Given the description of an element on the screen output the (x, y) to click on. 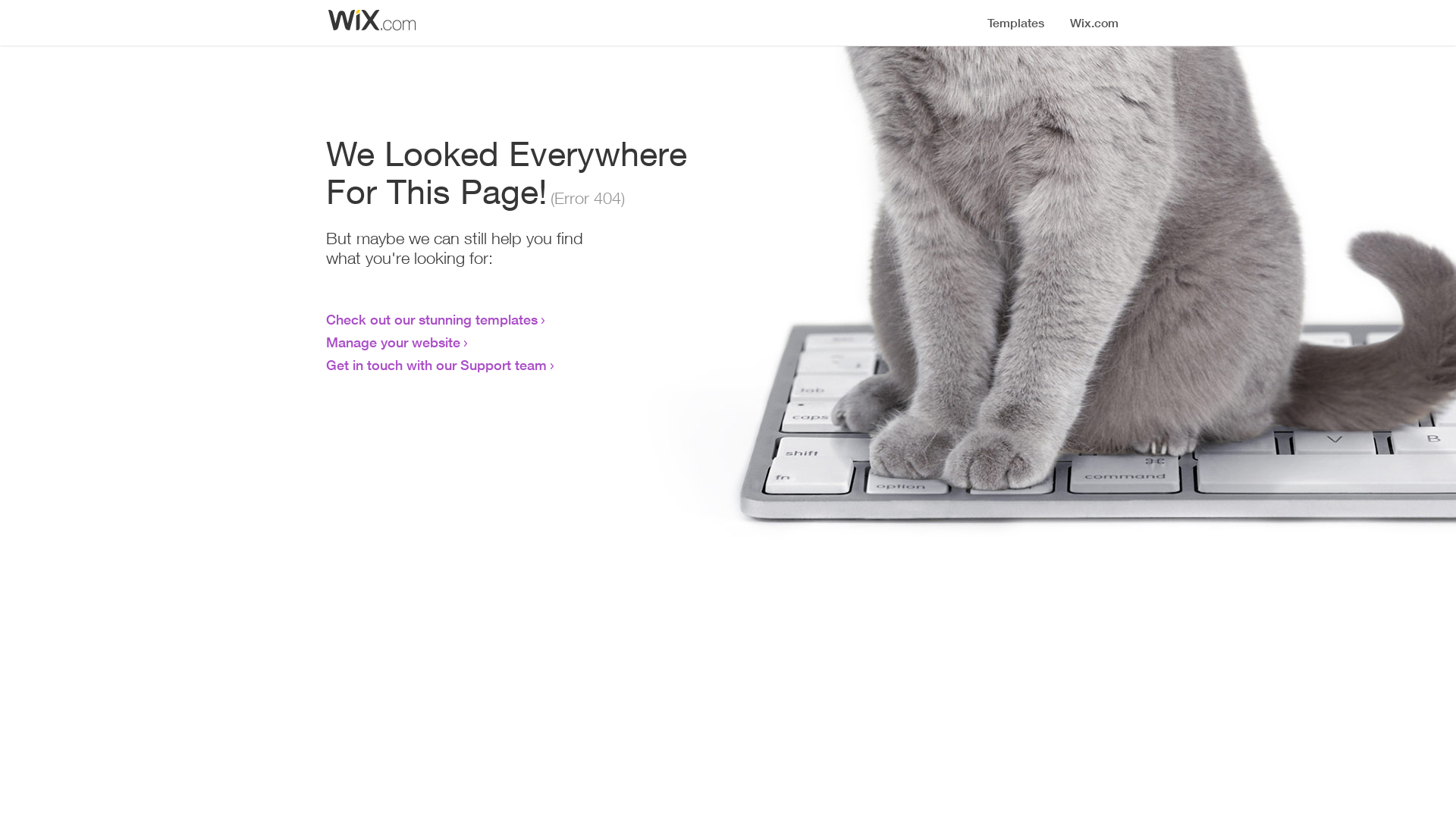
Get in touch with our Support team Element type: text (436, 364)
Manage your website Element type: text (393, 341)
Check out our stunning templates Element type: text (431, 318)
